Given the description of an element on the screen output the (x, y) to click on. 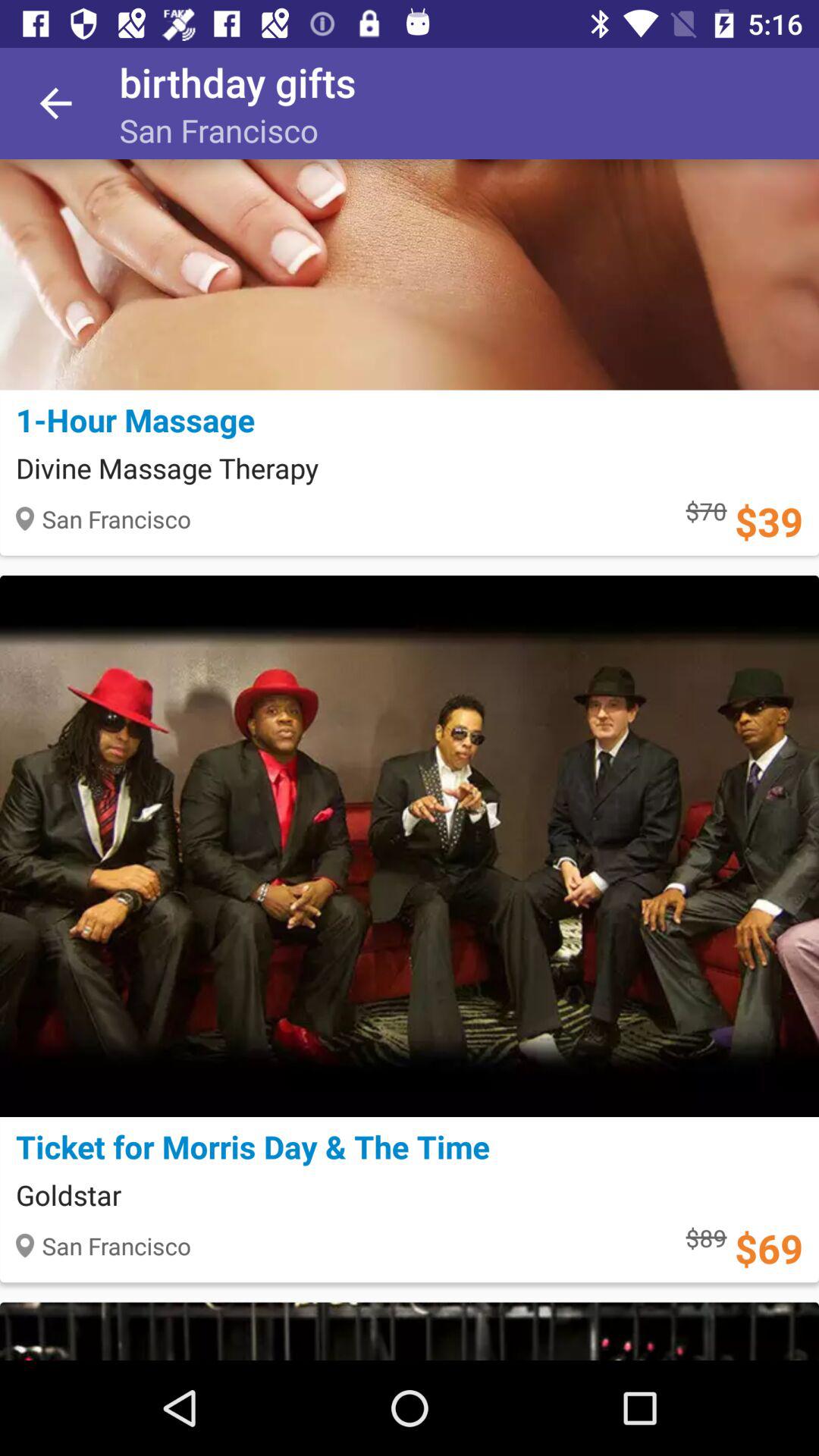
tap the item next to birthday gifts icon (55, 103)
